Given the description of an element on the screen output the (x, y) to click on. 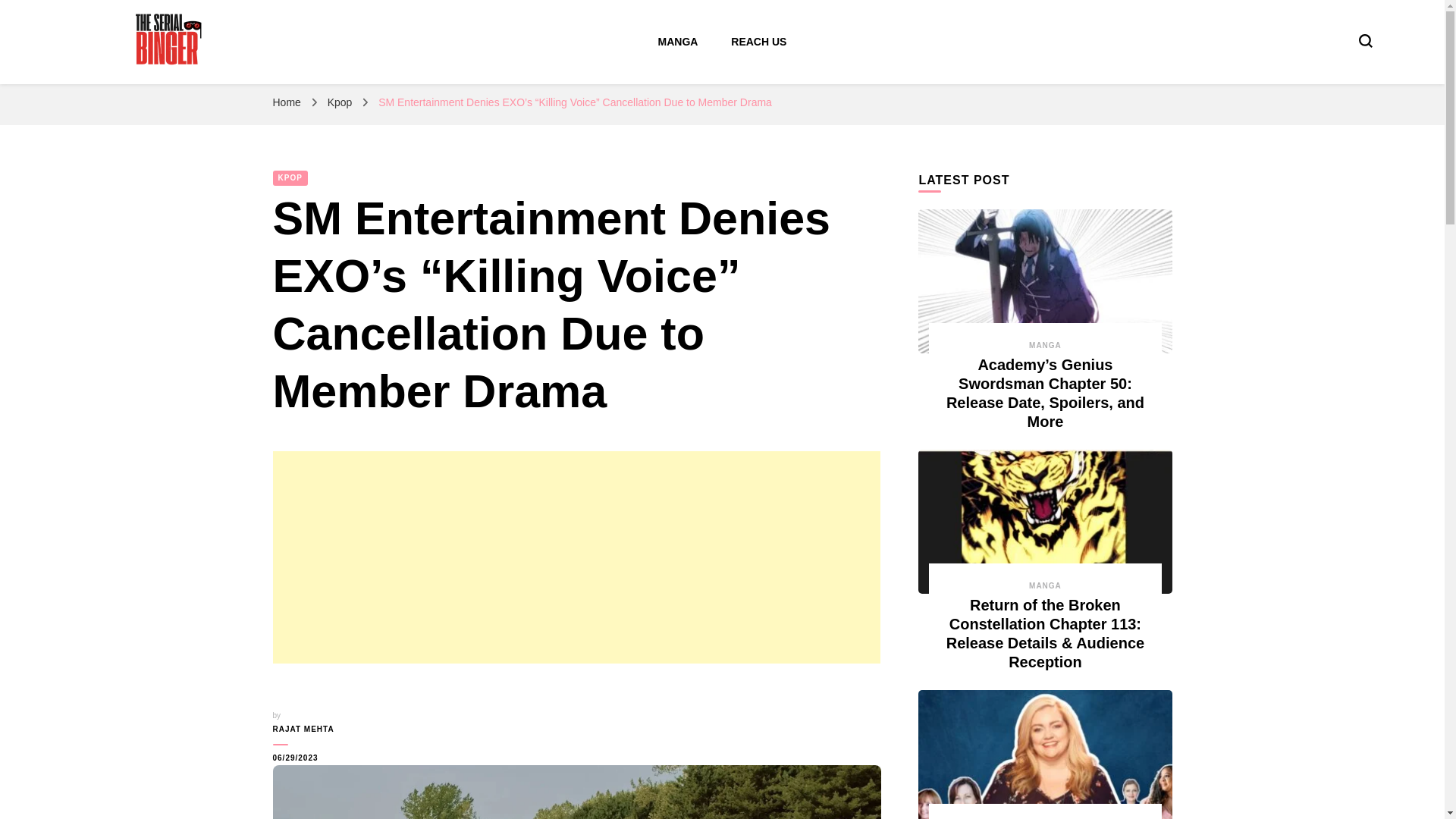
Home (287, 102)
MANGA (1045, 345)
Kpop (341, 102)
KPOP (290, 177)
RAJAT MEHTA (322, 729)
MANGA (678, 41)
Advertisement (576, 557)
MANGA (1045, 585)
The Serial Binger (174, 87)
REACH US (758, 41)
